Given the description of an element on the screen output the (x, y) to click on. 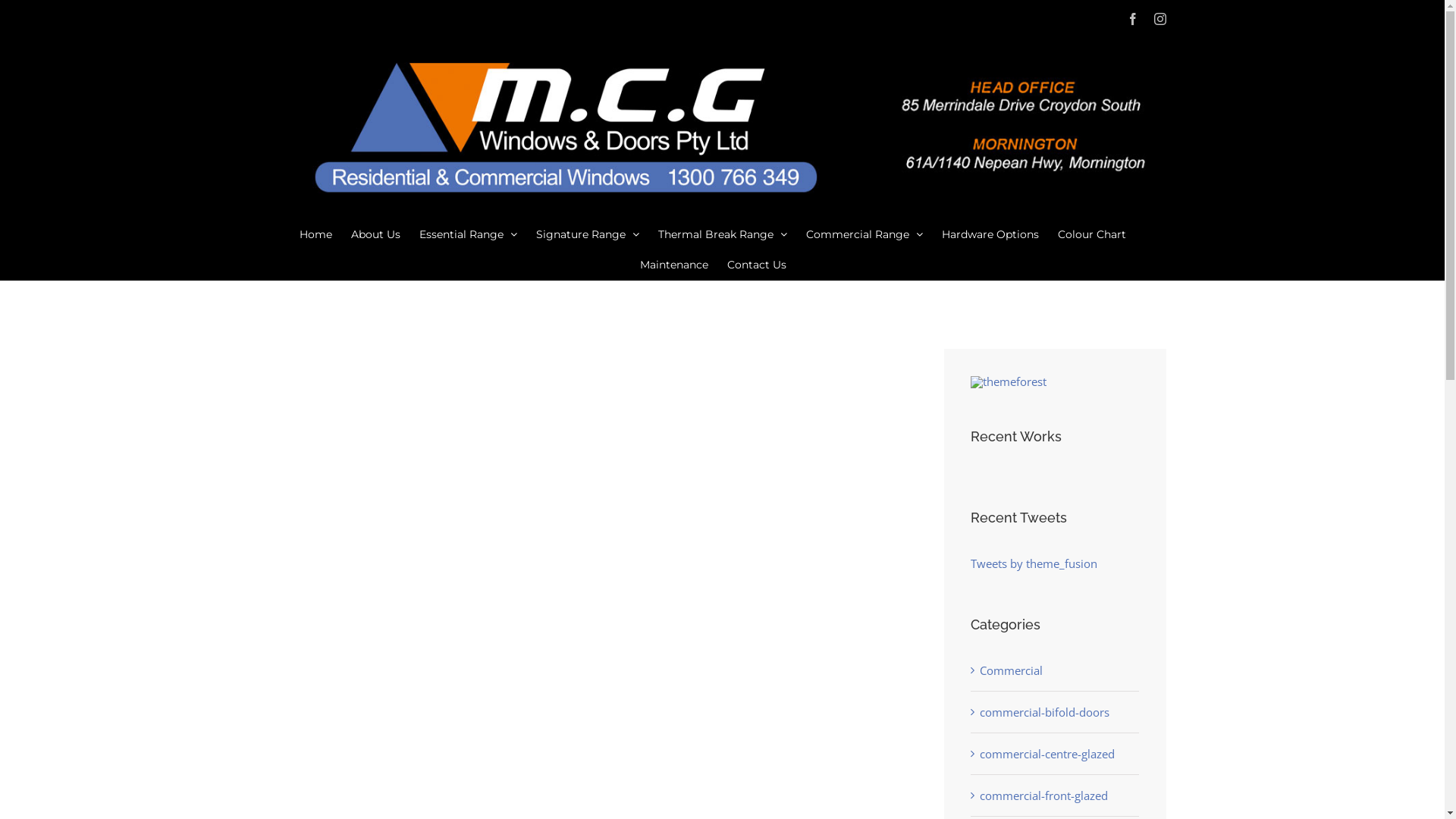
Instagram Element type: text (1160, 18)
commercial-front-glazed Element type: text (1055, 795)
Contact Us Element type: text (755, 264)
Maintenance Element type: text (674, 264)
Commercial Range Element type: text (864, 234)
Commercial Element type: text (1055, 670)
Signature Range Element type: text (587, 234)
Thermal Break Range Element type: text (722, 234)
Essential Range Element type: text (468, 234)
Tweets by theme_fusion Element type: text (1033, 563)
About Us Element type: text (375, 234)
Facebook Element type: text (1132, 18)
Colour Chart Element type: text (1091, 234)
Hardware Options Element type: text (989, 234)
Home Element type: text (315, 234)
commercial-bifold-doors Element type: text (1055, 711)
commercial-centre-glazed Element type: text (1055, 753)
